Given the description of an element on the screen output the (x, y) to click on. 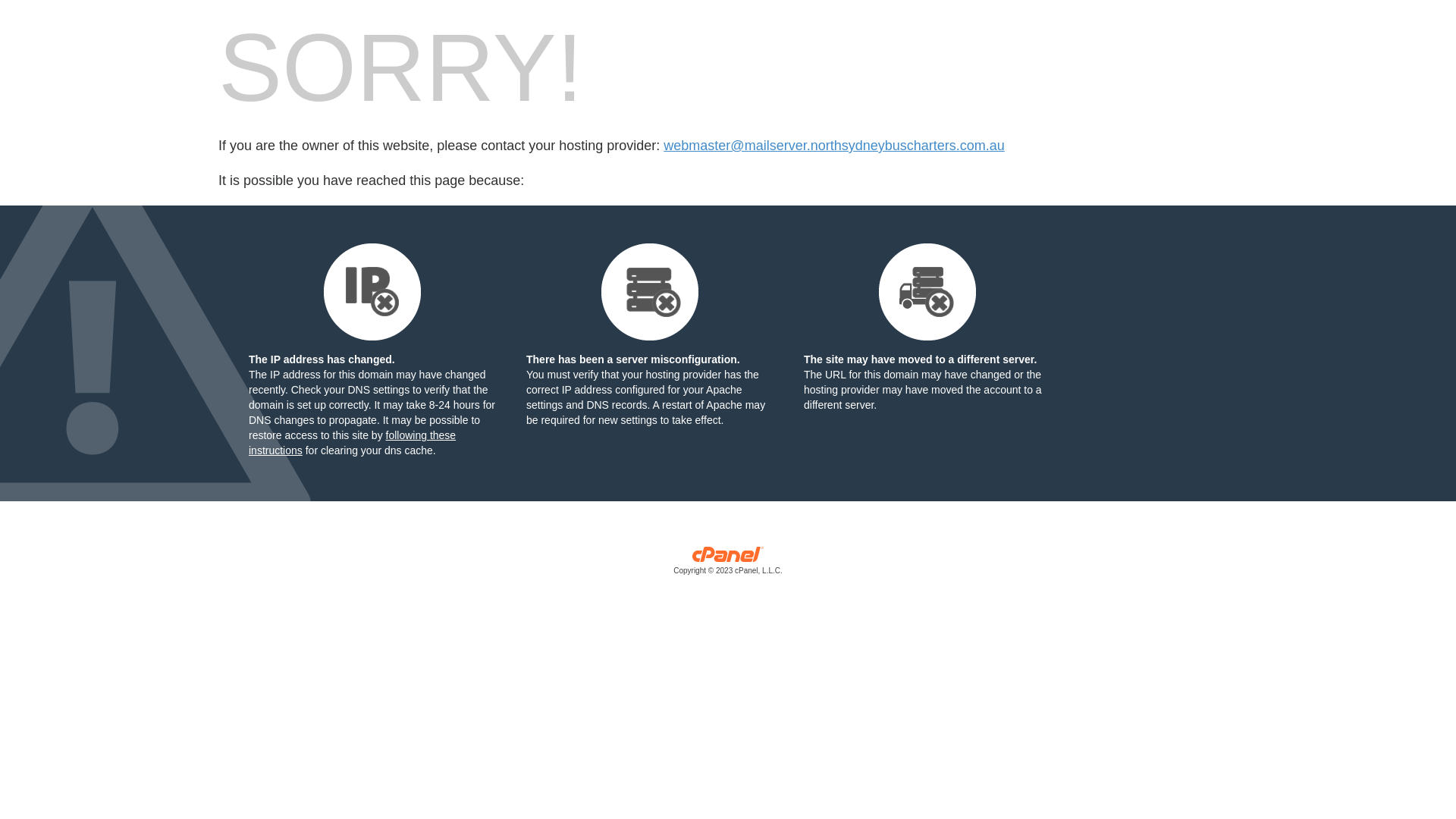
following these instructions Element type: text (351, 442)
webmaster@mailserver.northsydneybuscharters.com.au Element type: text (833, 145)
